Given the description of an element on the screen output the (x, y) to click on. 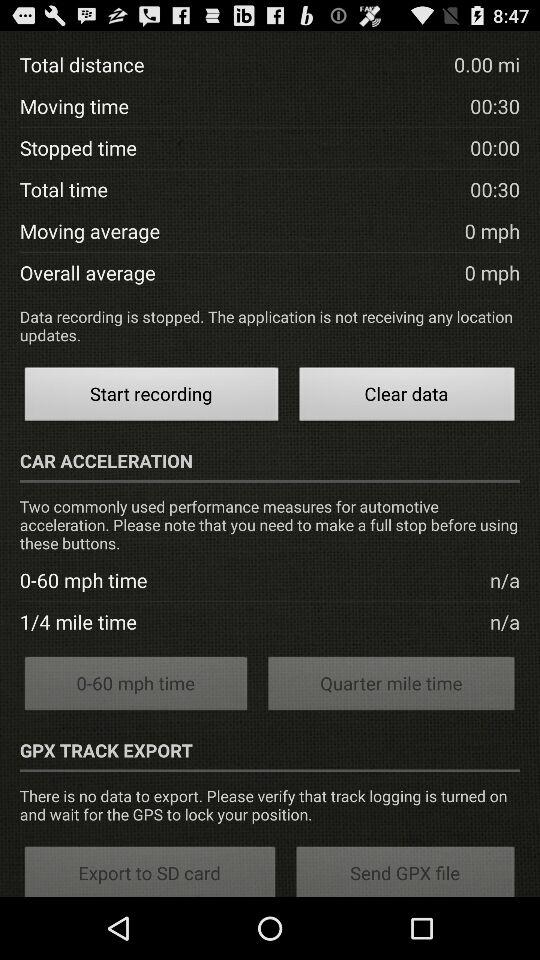
jump until the send gpx file icon (405, 870)
